Given the description of an element on the screen output the (x, y) to click on. 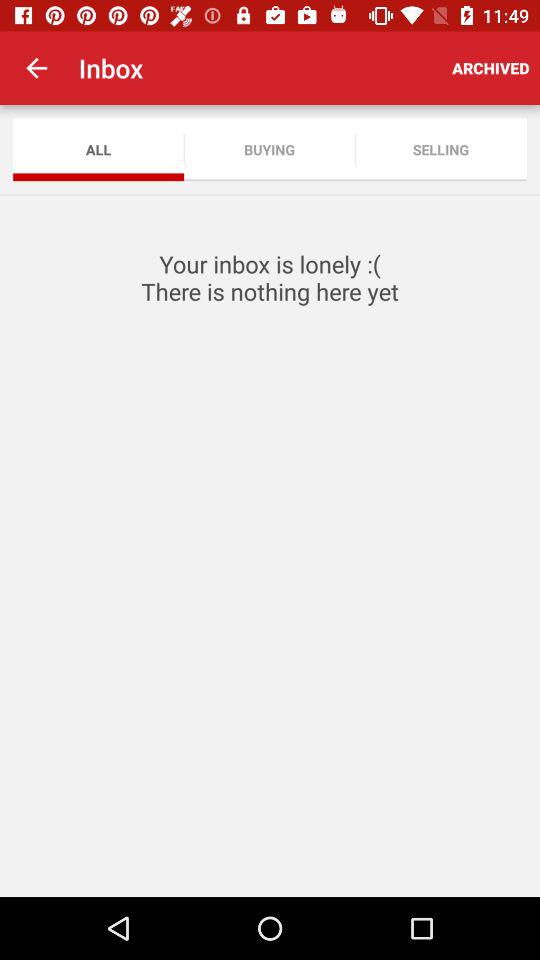
click the app to the right of the buying app (440, 149)
